Given the description of an element on the screen output the (x, y) to click on. 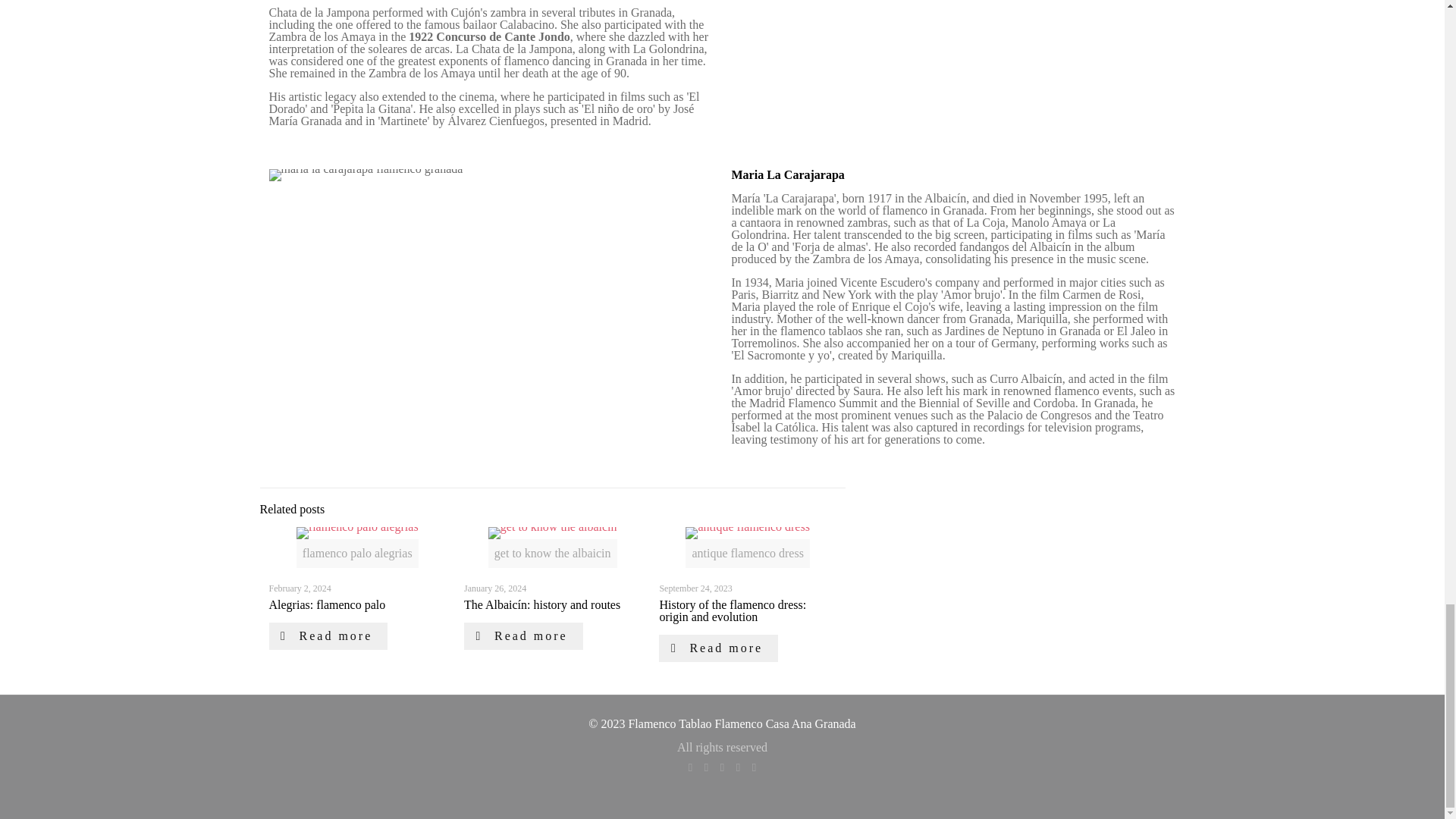
Google (754, 767)
Facebook (705, 767)
Read more (523, 636)
Instagram (738, 767)
YouTube (722, 767)
Alegrias: flamenco palo (326, 604)
WhatsApp (689, 767)
Read more (327, 636)
